Given the description of an element on the screen output the (x, y) to click on. 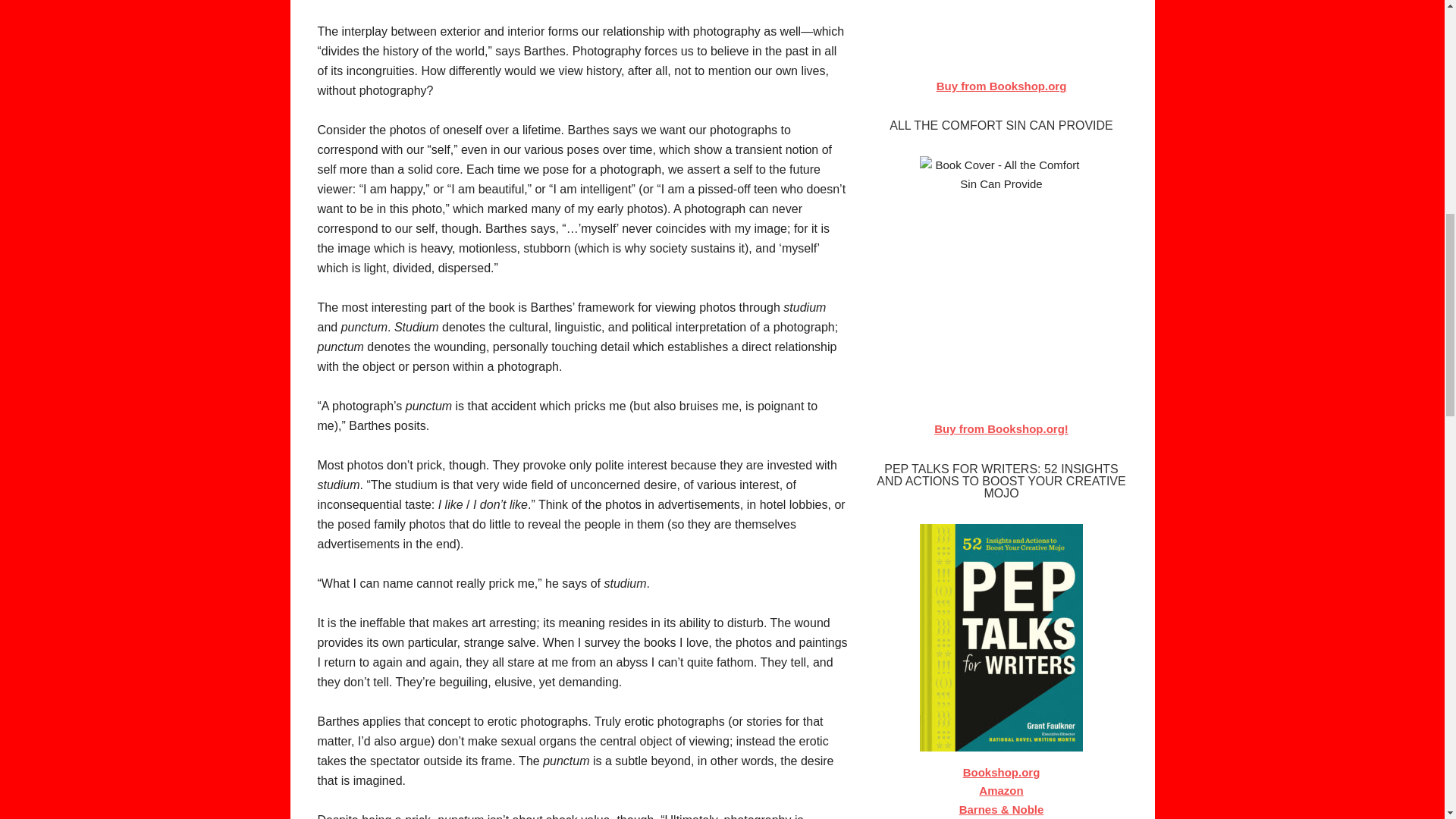
Amazon (1000, 789)
Bookshop.org (1001, 771)
Buy from Bookshop.org (1001, 85)
Buy from Bookshop.org! (1001, 428)
